Given the description of an element on the screen output the (x, y) to click on. 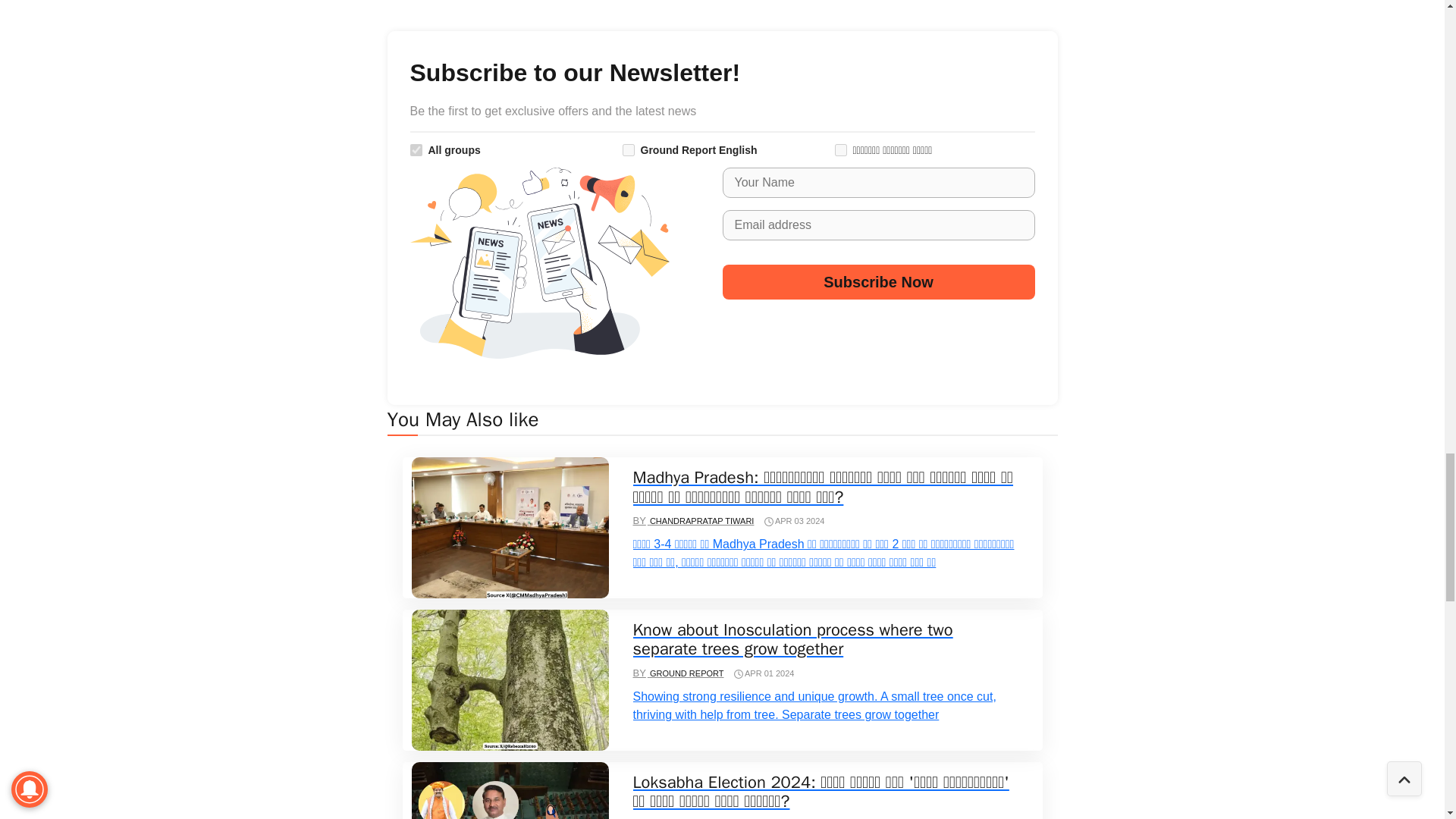
200 (839, 150)
199 (627, 150)
